Given the description of an element on the screen output the (x, y) to click on. 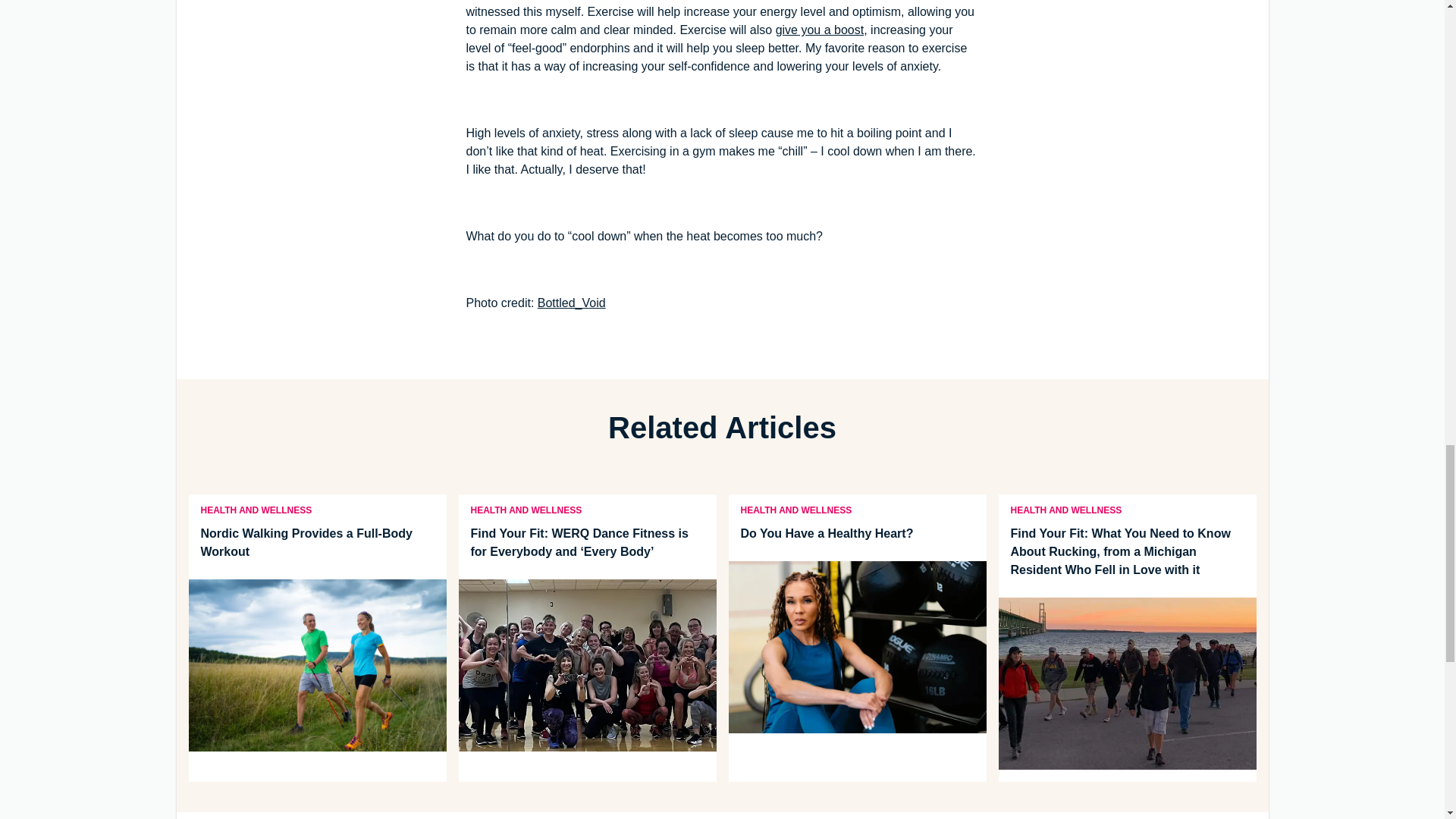
HEALTH AND WELLNESS (526, 508)
HEALTH AND WELLNESS (795, 508)
Do You Have a Healthy Heart? (856, 533)
HEALTH AND WELLNESS (1065, 508)
HEALTH AND WELLNESS (255, 508)
give you a boost (820, 29)
Nordic Walking Provides a Full-Body Workout (316, 542)
